Given the description of an element on the screen output the (x, y) to click on. 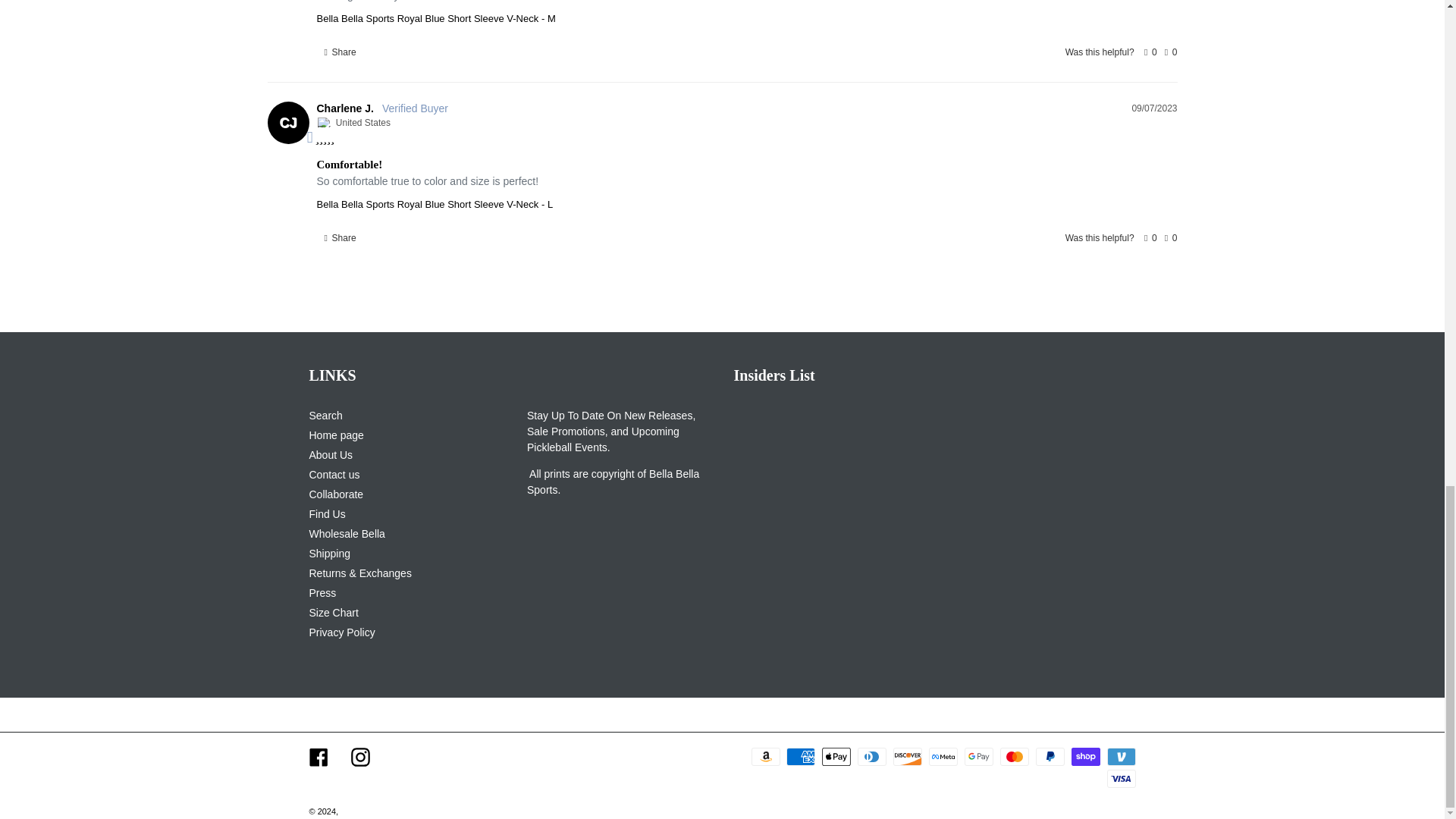
Mastercard (1014, 756)
Diners Club (871, 756)
Discover (907, 756)
Shop Pay (1085, 756)
Apple Pay (836, 756)
Amazon (765, 756)
Meta Pay (943, 756)
PayPal (1049, 756)
Google Pay (977, 756)
American Express (800, 756)
